Given the description of an element on the screen output the (x, y) to click on. 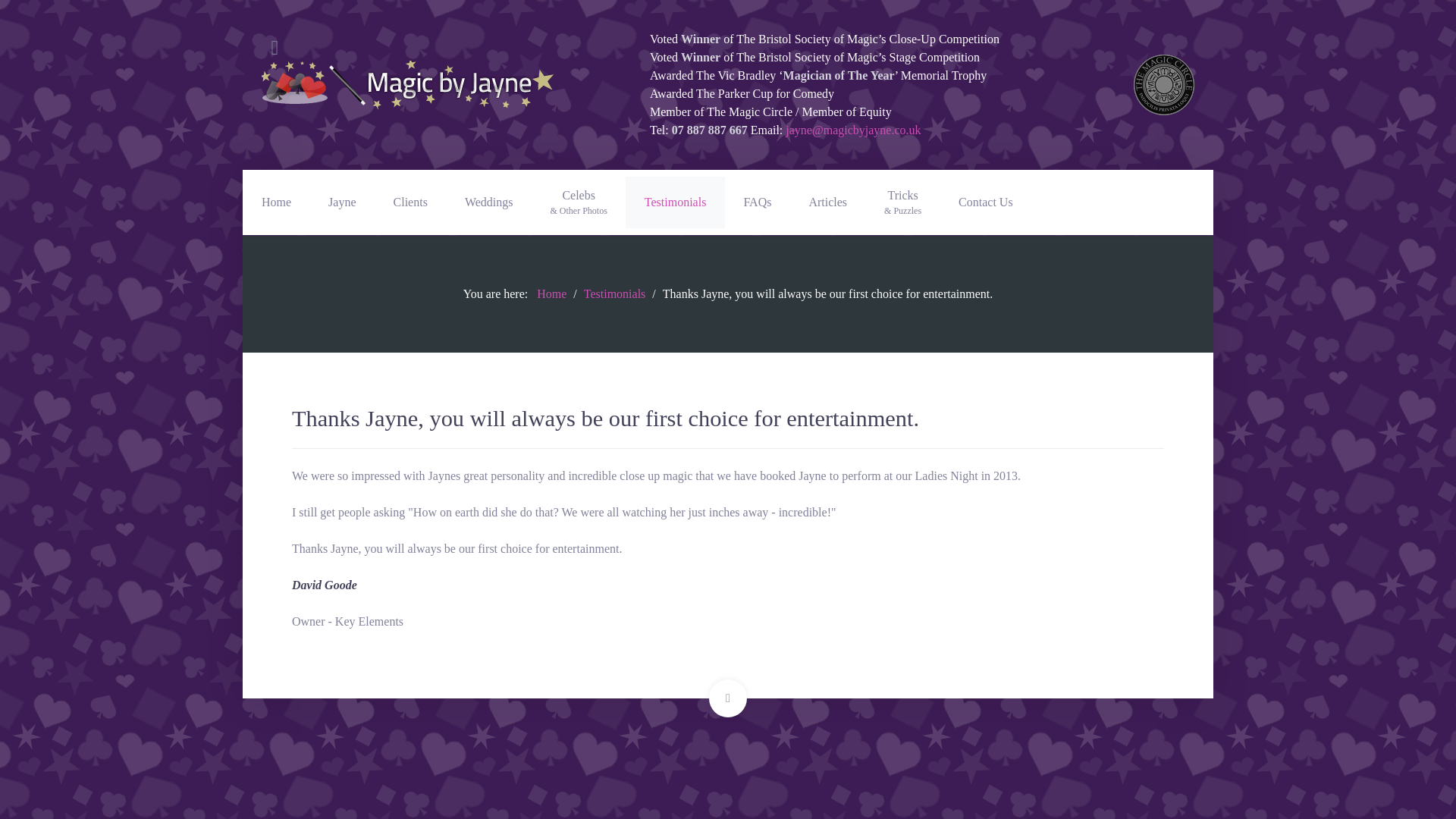
Testimonials (614, 293)
FAQs (756, 202)
Contact Us (985, 202)
Home (551, 293)
Home (276, 202)
Jayne (341, 202)
Magic By Jayne (409, 84)
Clients (410, 202)
Weddings (488, 202)
Testimonials (675, 202)
Articles (827, 202)
